Given the description of an element on the screen output the (x, y) to click on. 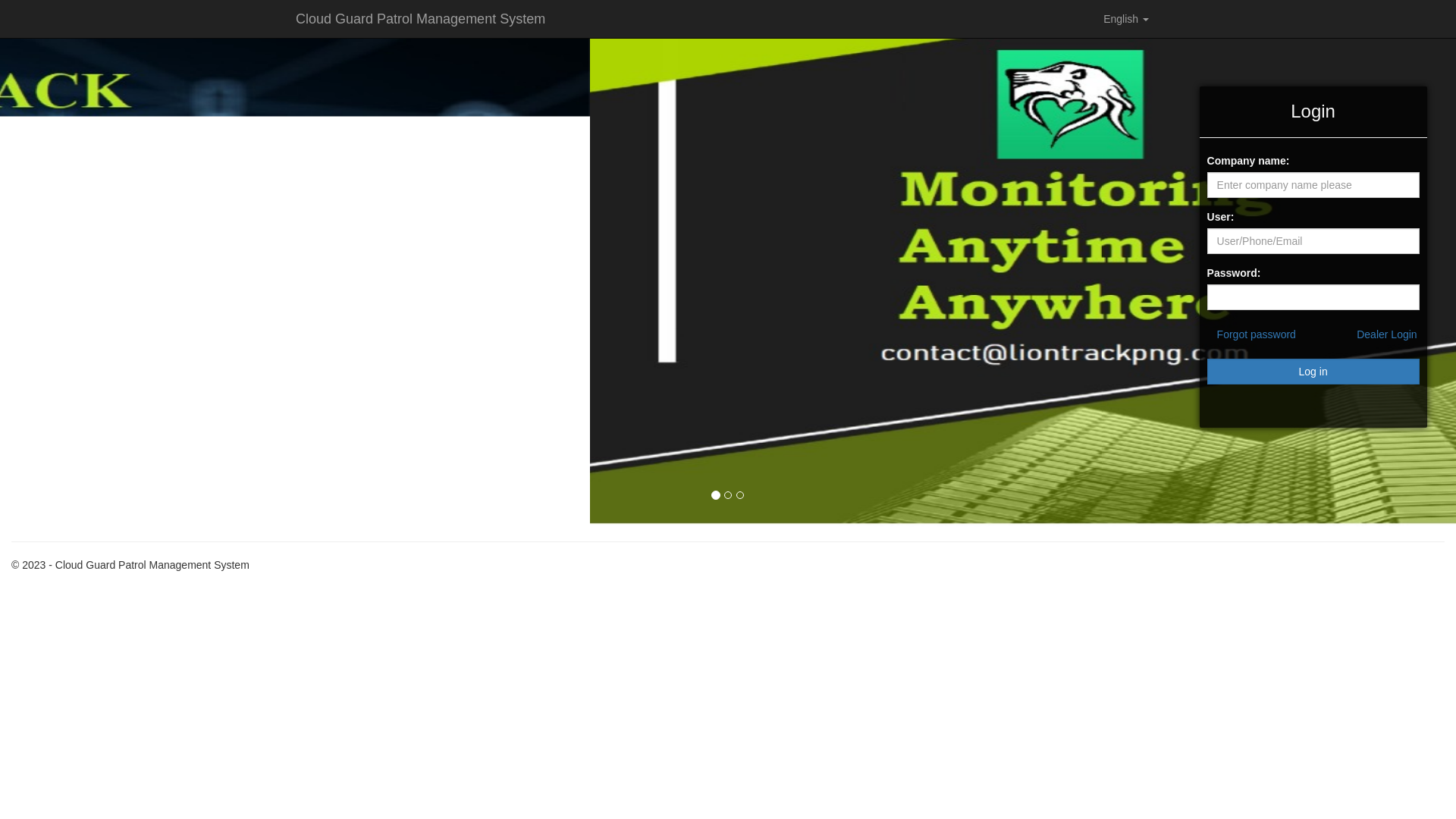
Forgot password Element type: text (1256, 334)
Log in Element type: text (1313, 371)
Dealer Login Element type: text (1386, 334)
English Element type: text (1126, 18)
